Given the description of an element on the screen output the (x, y) to click on. 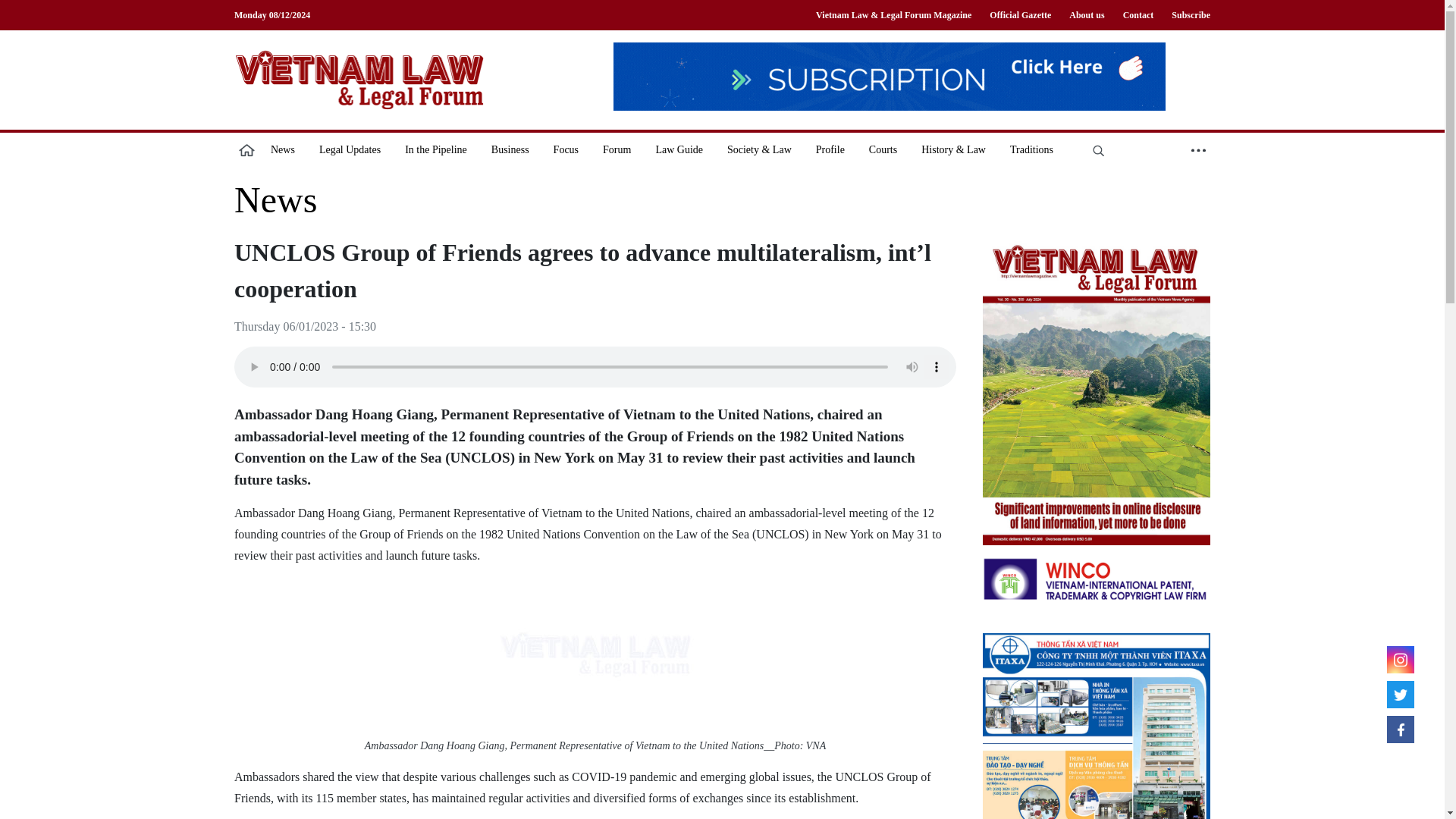
Courts (882, 149)
Contact (1138, 15)
home (246, 149)
News (283, 149)
Legal Updates (350, 149)
News (275, 200)
Subscribe (1185, 15)
Forum (617, 149)
Focus (566, 149)
About us (1086, 15)
